Given the description of an element on the screen output the (x, y) to click on. 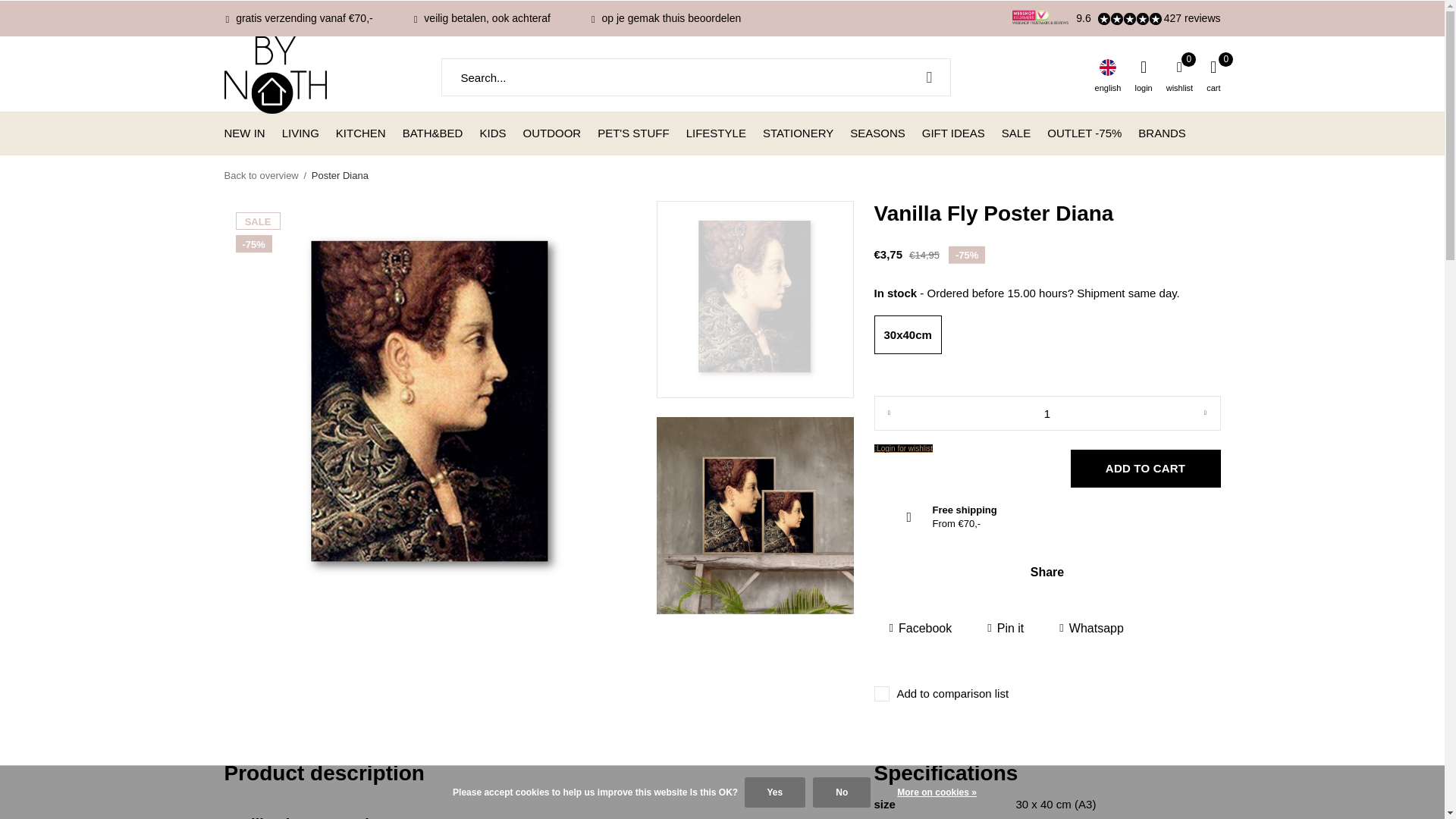
Yes (775, 792)
1 (1046, 412)
NEW IN (244, 132)
More on cookies (936, 792)
No (841, 792)
LIVING (300, 132)
